Given the description of an element on the screen output the (x, y) to click on. 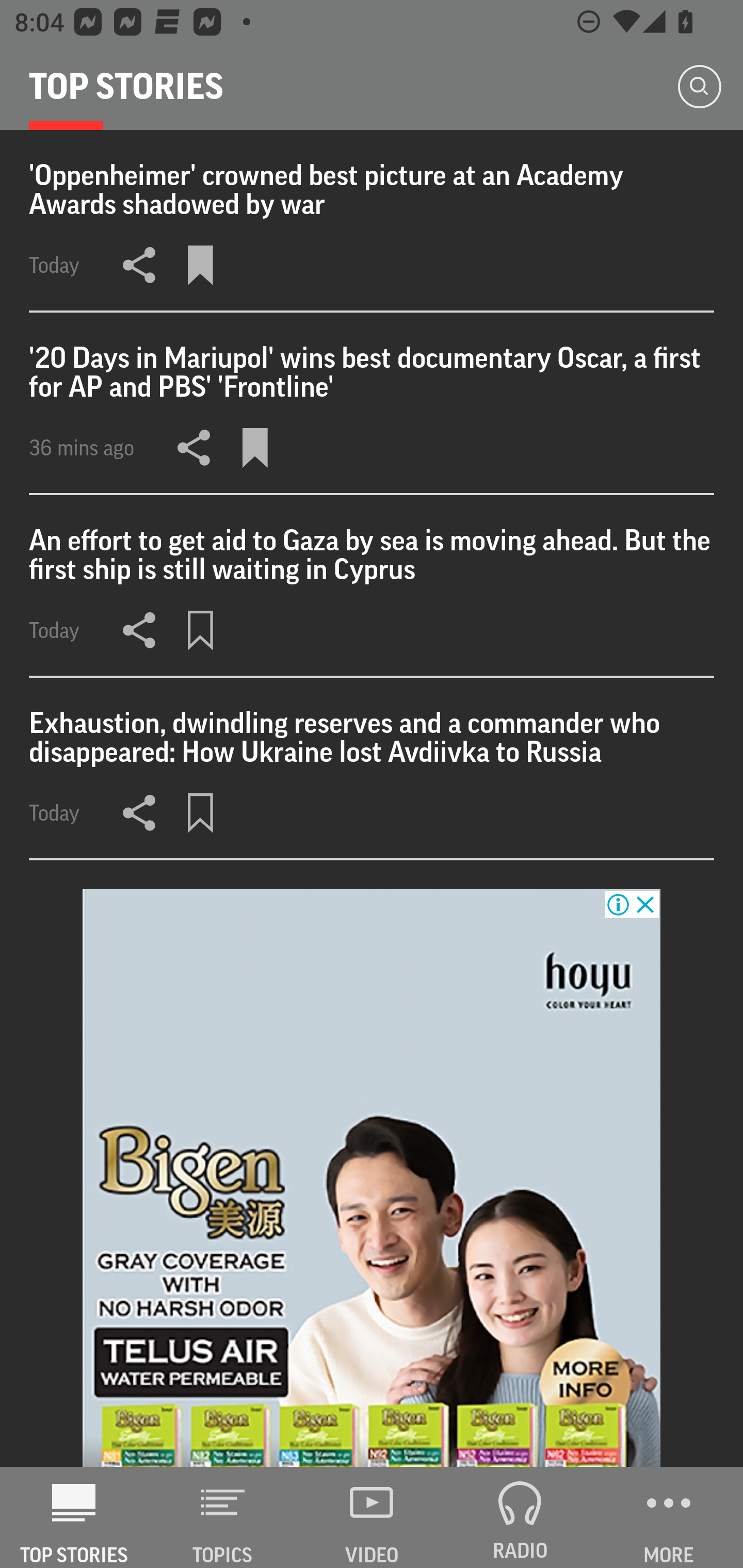
8 (371, 1178)
AP News TOP STORIES (74, 1517)
TOPICS (222, 1517)
VIDEO (371, 1517)
RADIO (519, 1517)
MORE (668, 1517)
